Given the description of an element on the screen output the (x, y) to click on. 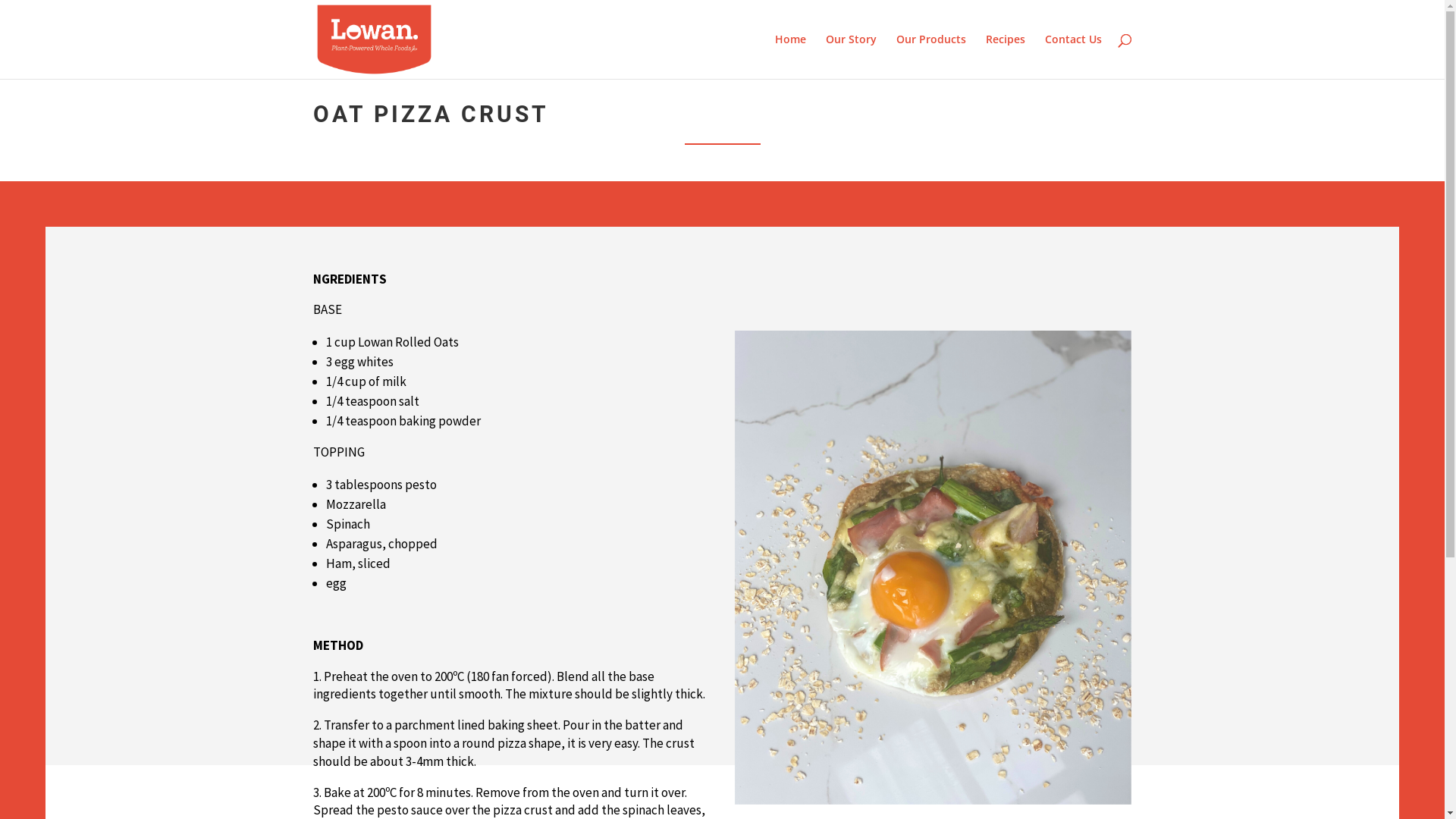
Our Story Element type: text (850, 56)
Contact Us Element type: text (1072, 56)
Oat Base Pizza Post Element type: hover (933, 567)
Home Element type: text (790, 56)
Recipes Element type: text (1005, 56)
Our Products Element type: text (931, 56)
